Given the description of an element on the screen output the (x, y) to click on. 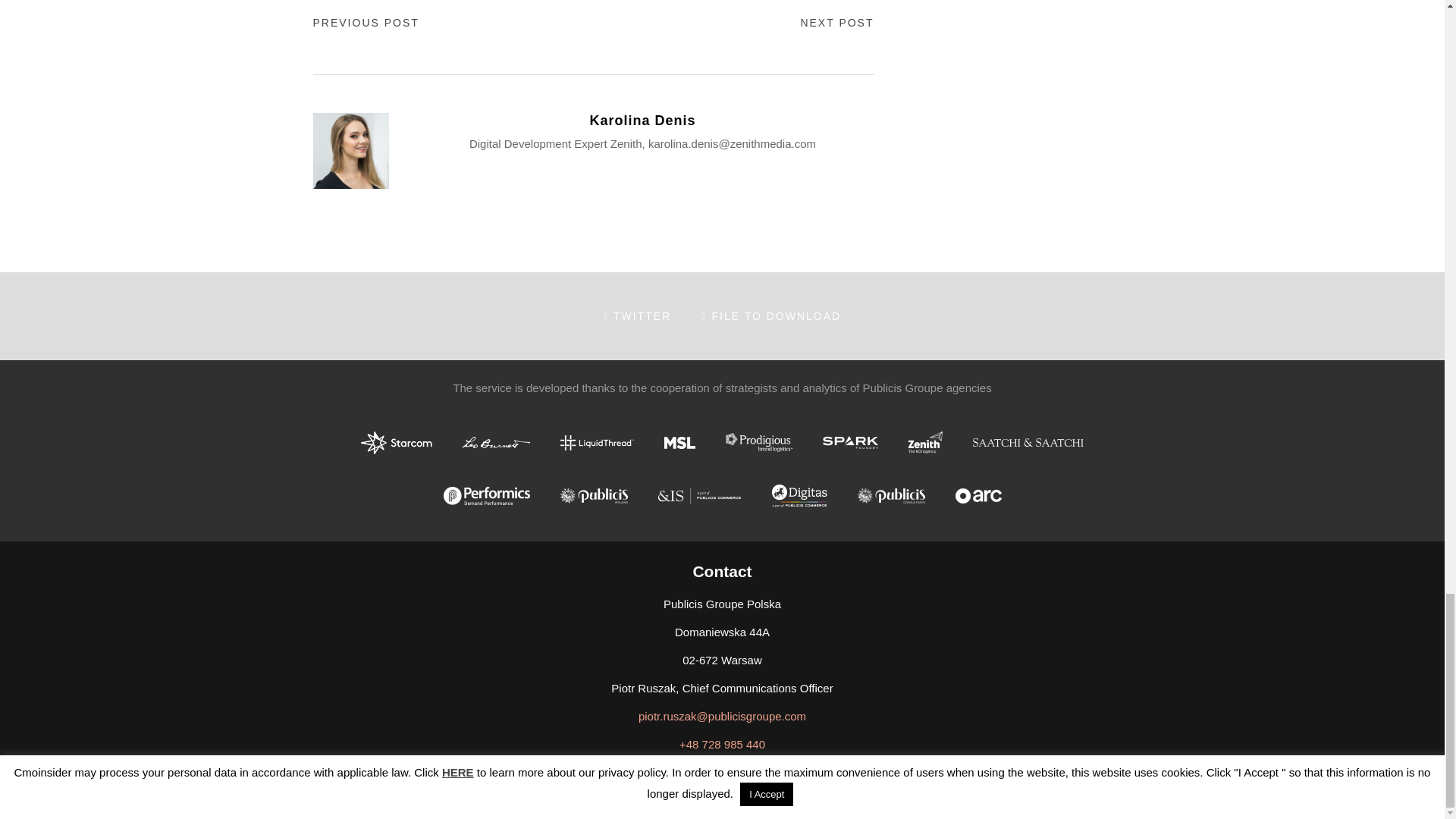
Karolina Denis (641, 120)
PREVIOUS POST (366, 22)
Posts by Karolina Denis (641, 120)
NEXT POST (836, 22)
